Given the description of an element on the screen output the (x, y) to click on. 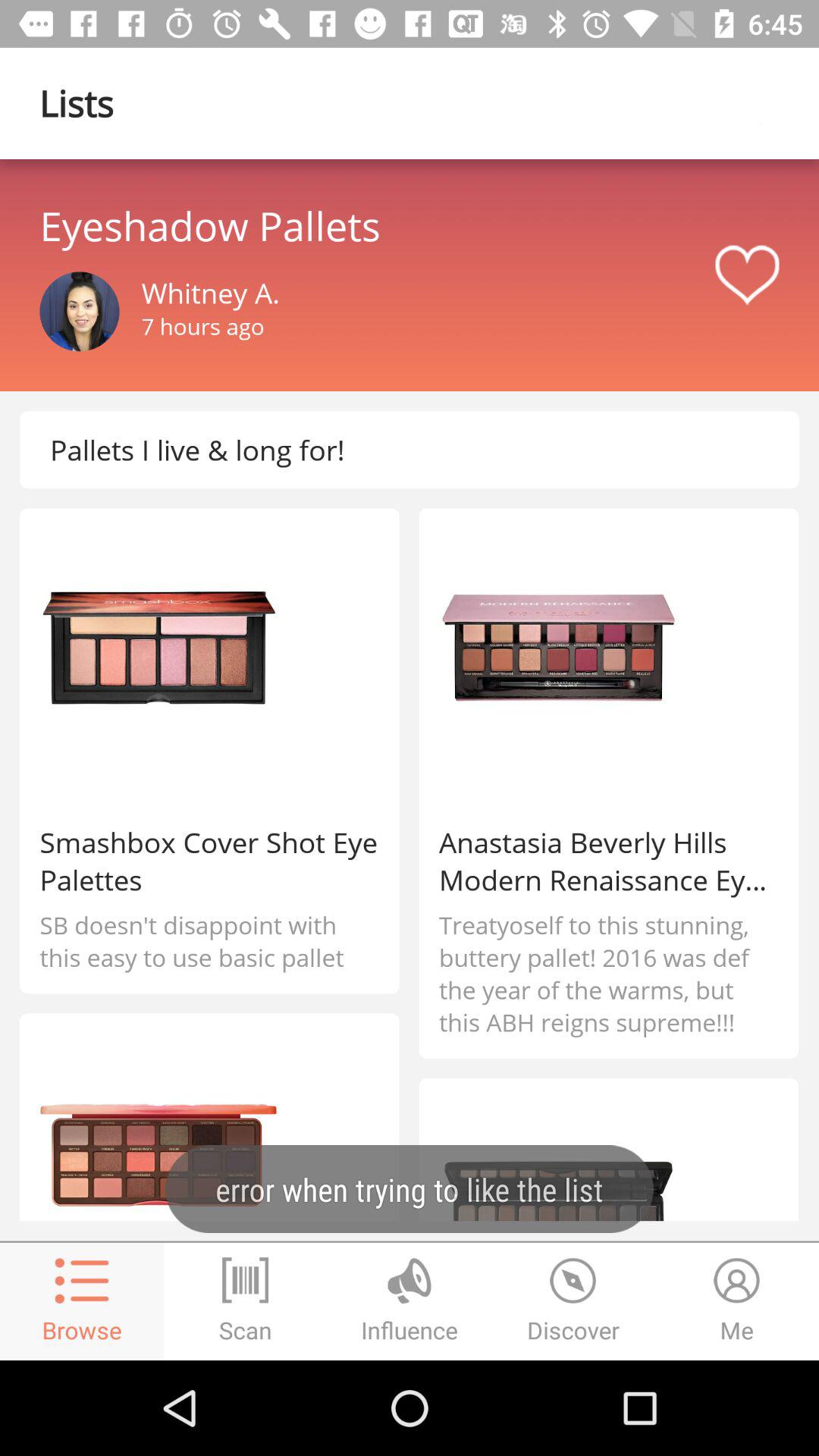
like pega (747, 275)
